Given the description of an element on the screen output the (x, y) to click on. 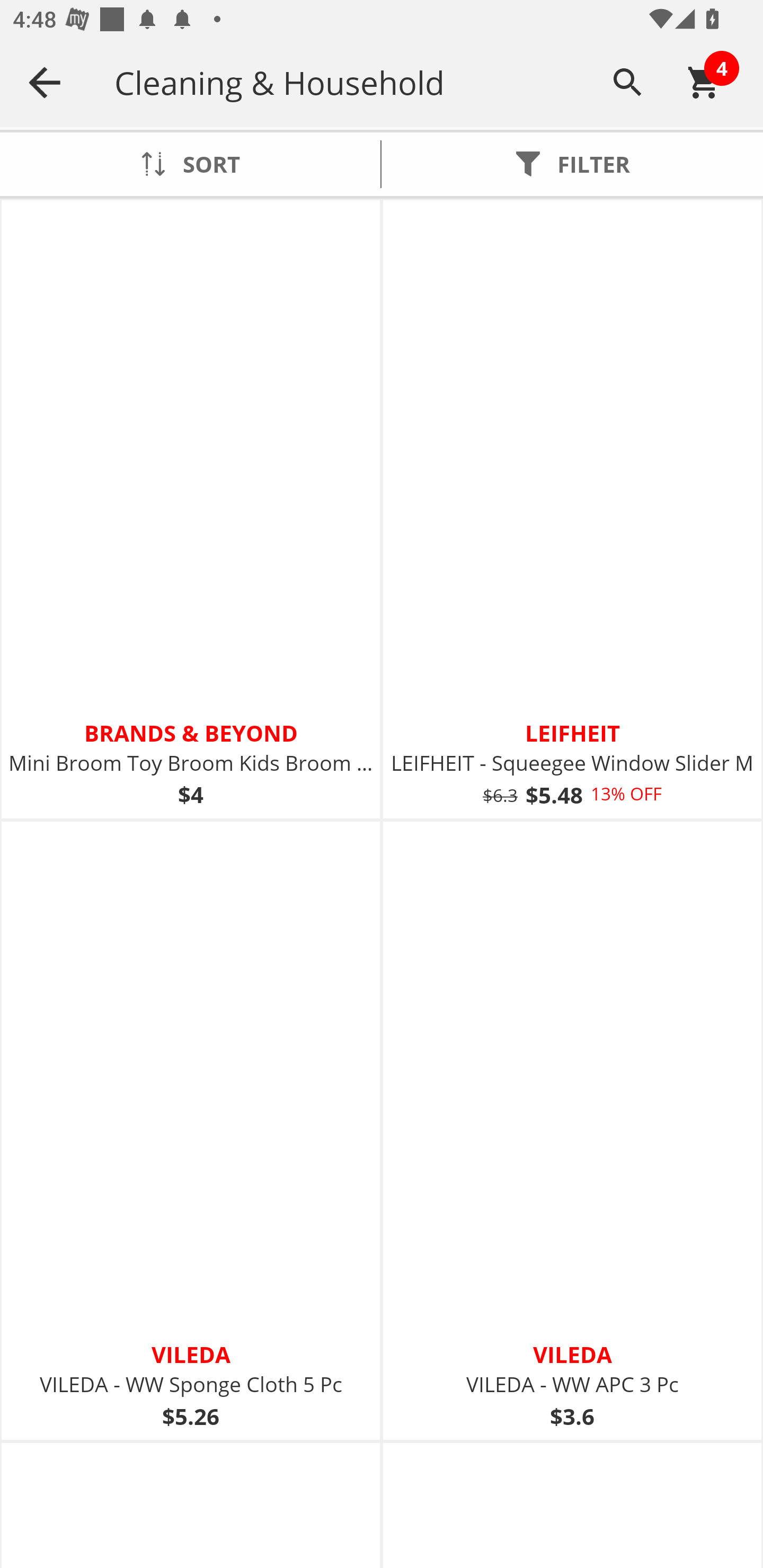
Navigate up (44, 82)
SORT (190, 163)
FILTER (572, 163)
VILEDA VILEDA - WW Sponge Cloth 5 Pc $5.26 (190, 1130)
VILEDA VILEDA - WW APC 3 Pc $3.6 (572, 1130)
